Given the description of an element on the screen output the (x, y) to click on. 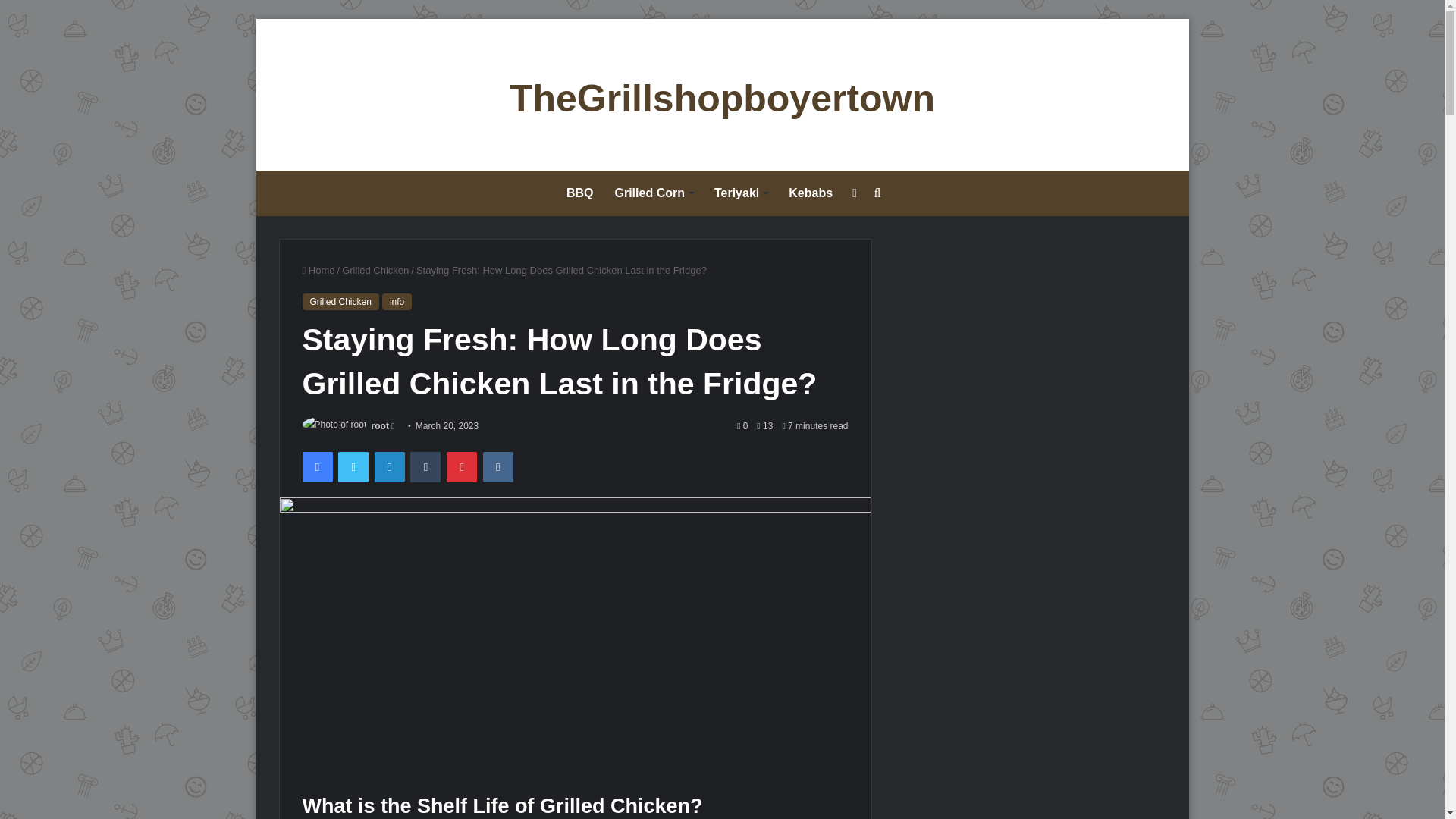
Tumblr (425, 467)
LinkedIn (389, 467)
Grilled Chicken (339, 301)
Pinterest (461, 467)
VKontakte (498, 467)
LinkedIn (389, 467)
root (379, 425)
Teriyaki (740, 193)
Pinterest (461, 467)
Facebook (316, 467)
TheGrillshopboyertown (721, 98)
Grilled Corn (653, 193)
Tumblr (425, 467)
Home (317, 270)
VKontakte (498, 467)
